Given the description of an element on the screen output the (x, y) to click on. 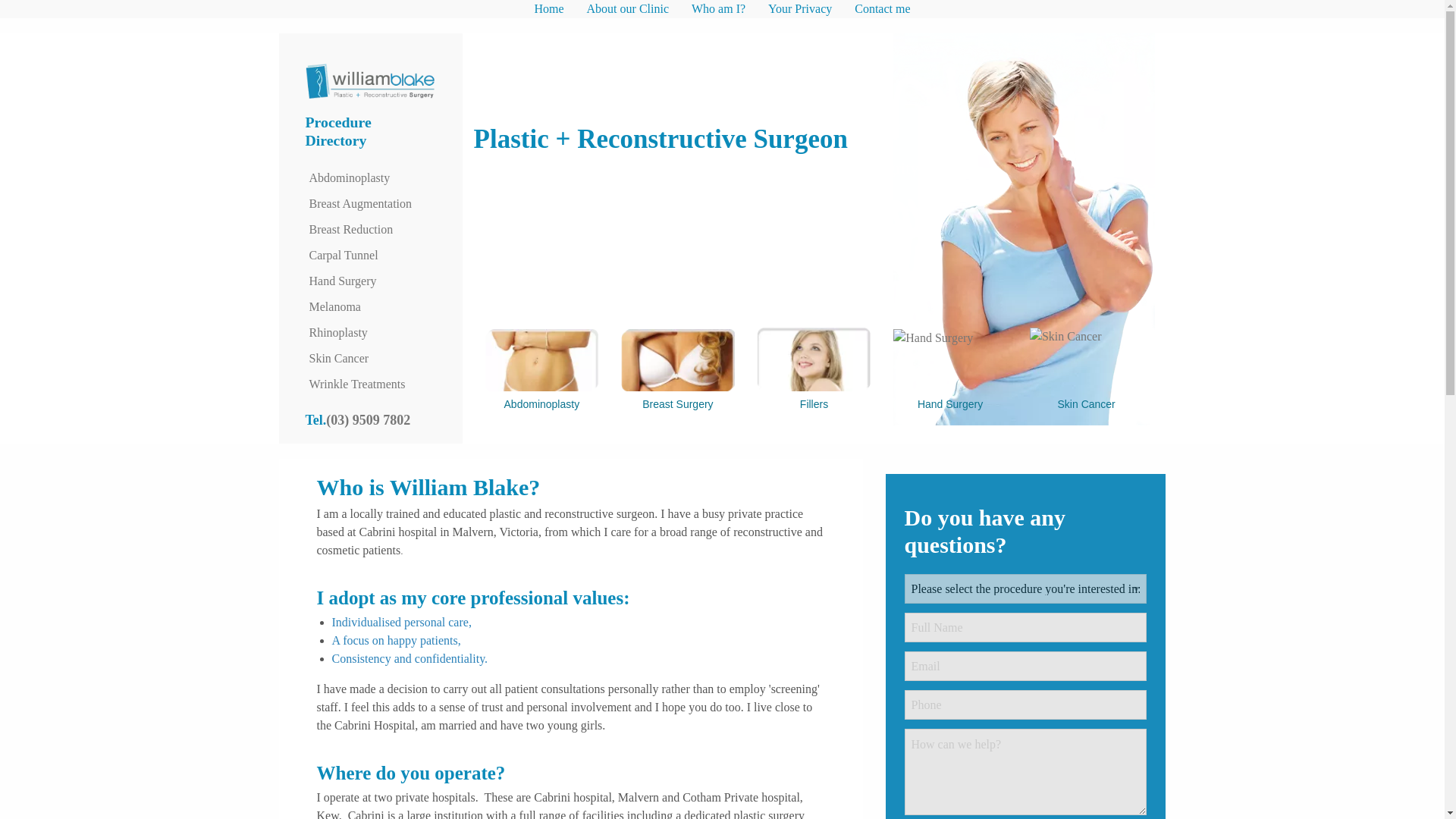
Breast Augmentation (369, 203)
About our Clinic (627, 9)
Wrinkle Treatments (369, 384)
Home (548, 9)
Abdominoplasty (369, 177)
Who am I? (718, 9)
Rhinoplasty (369, 332)
Your Privacy (800, 9)
Carpal Tunnel (369, 255)
Hand Surgery (369, 281)
